Given the description of an element on the screen output the (x, y) to click on. 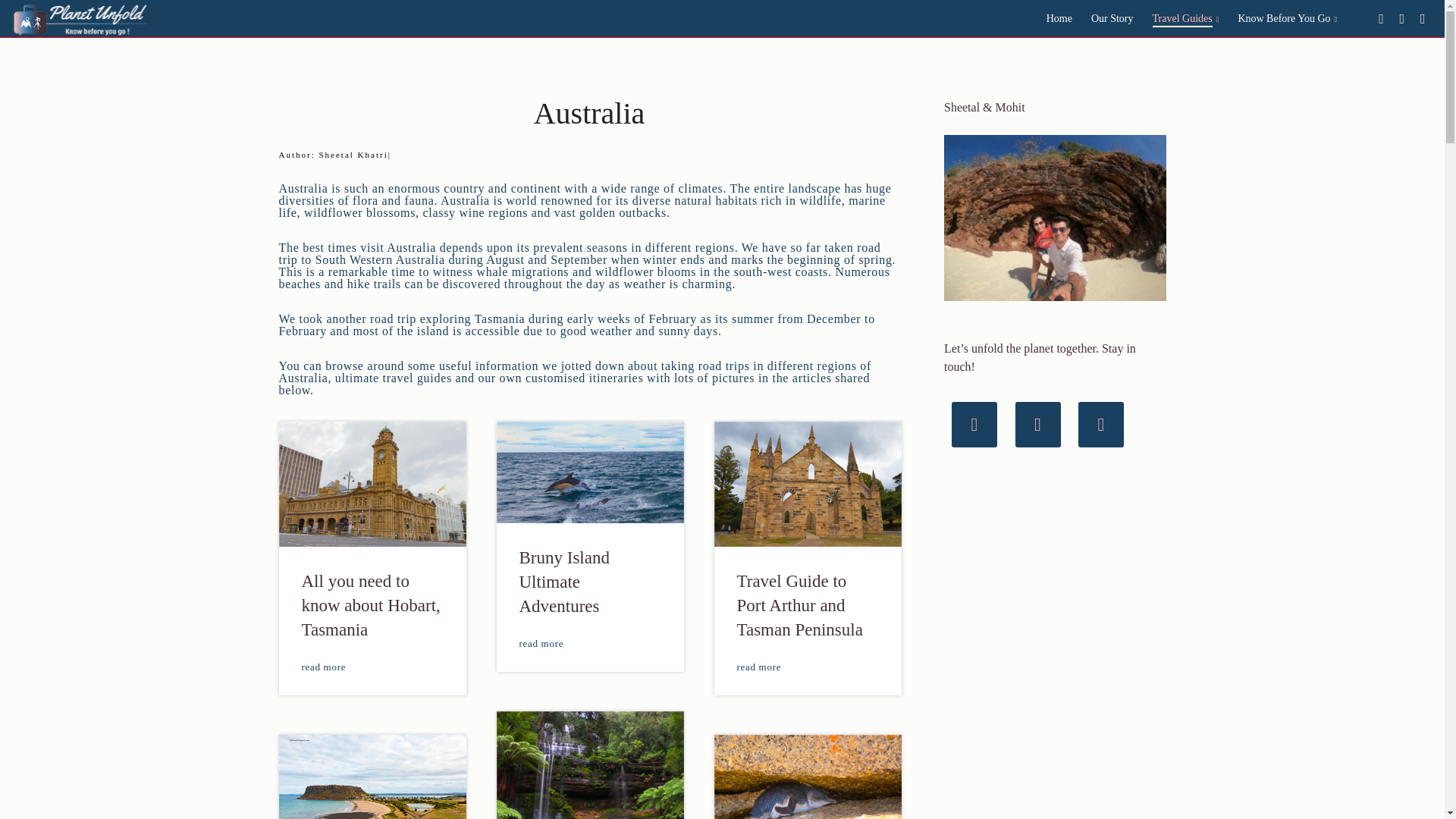
Travel Guides (1177, 18)
Home (1049, 18)
All you need to know about Hobart, Tasmania (372, 574)
Our Story (1102, 18)
Know Before You Go (1277, 18)
